Given the description of an element on the screen output the (x, y) to click on. 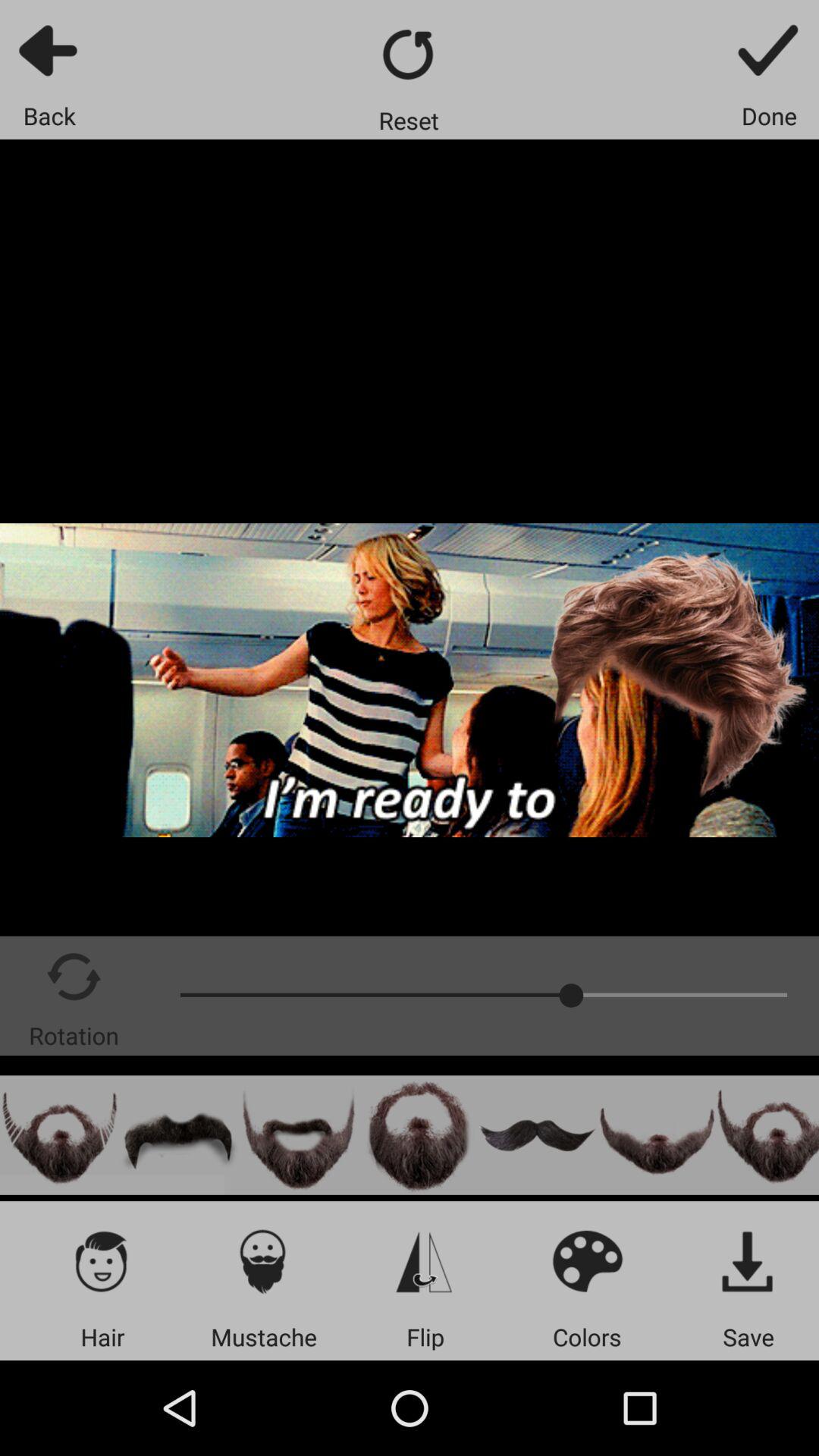
click app above the flip icon (425, 1260)
